Given the description of an element on the screen output the (x, y) to click on. 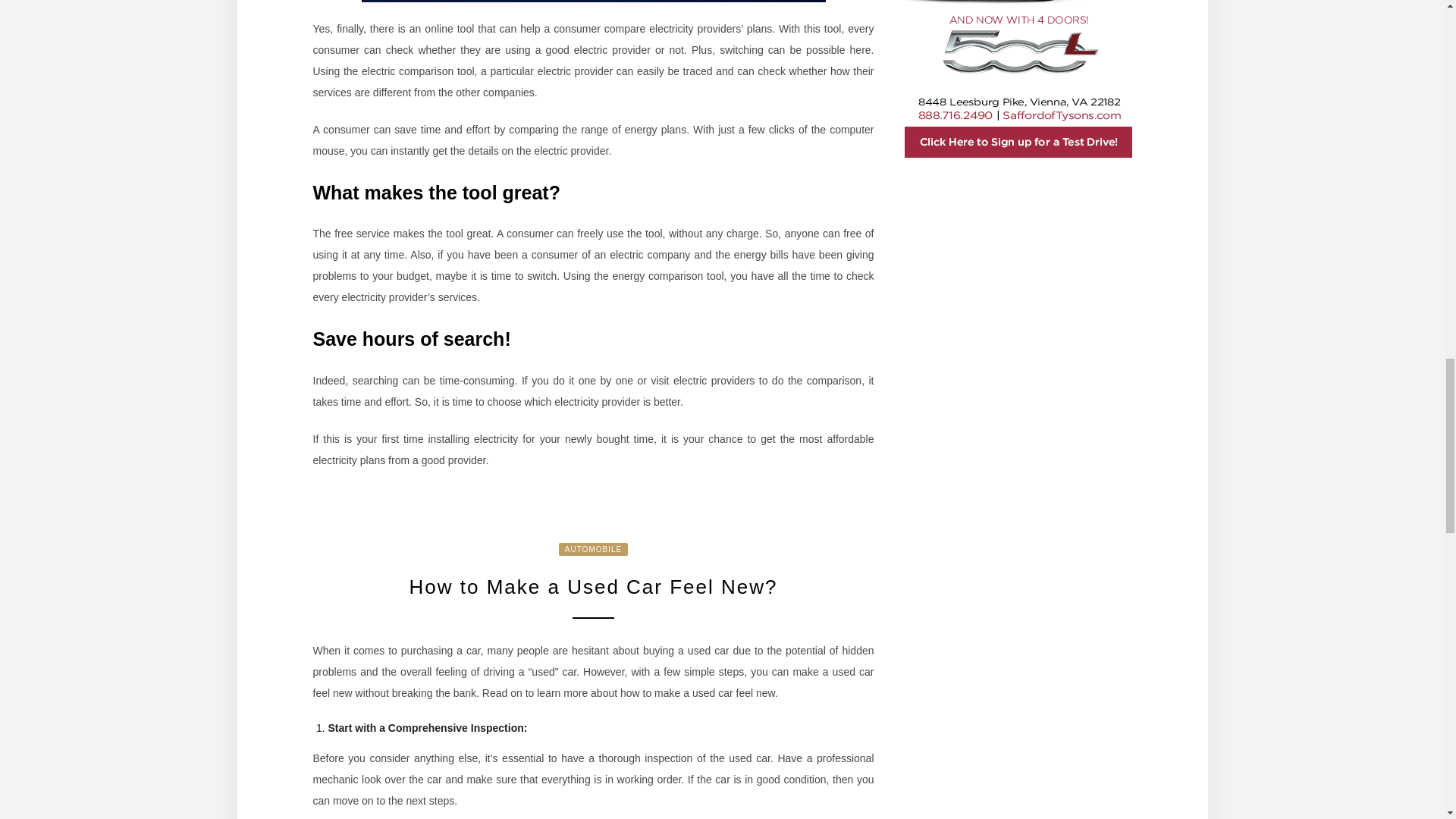
AUTOMOBILE (593, 549)
How to Make a Used Car Feel New? (593, 586)
